Given the description of an element on the screen output the (x, y) to click on. 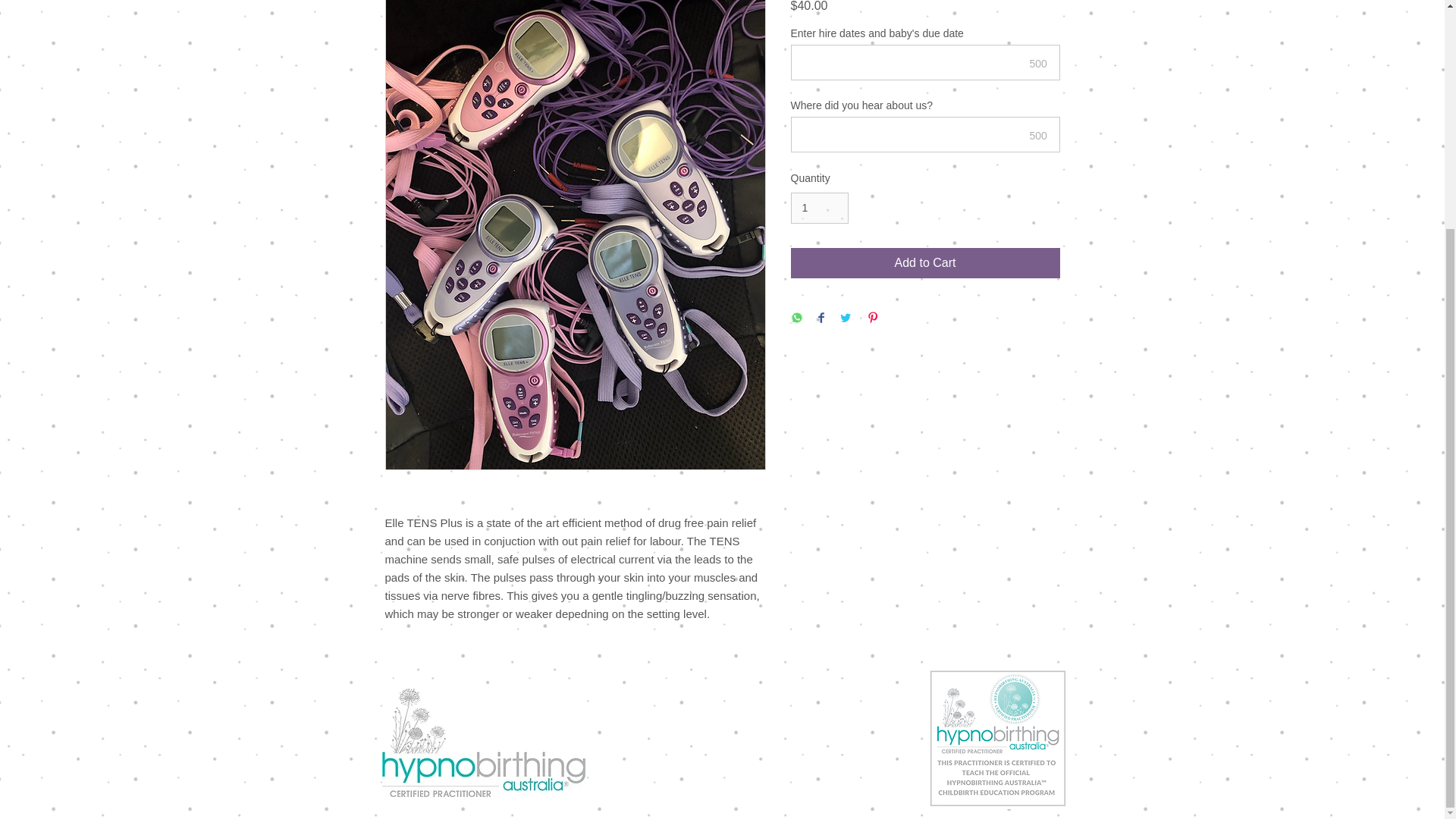
Add to Cart (924, 263)
Smile.io Rewards Program Launcher (69, 473)
1 (818, 207)
